Given the description of an element on the screen output the (x, y) to click on. 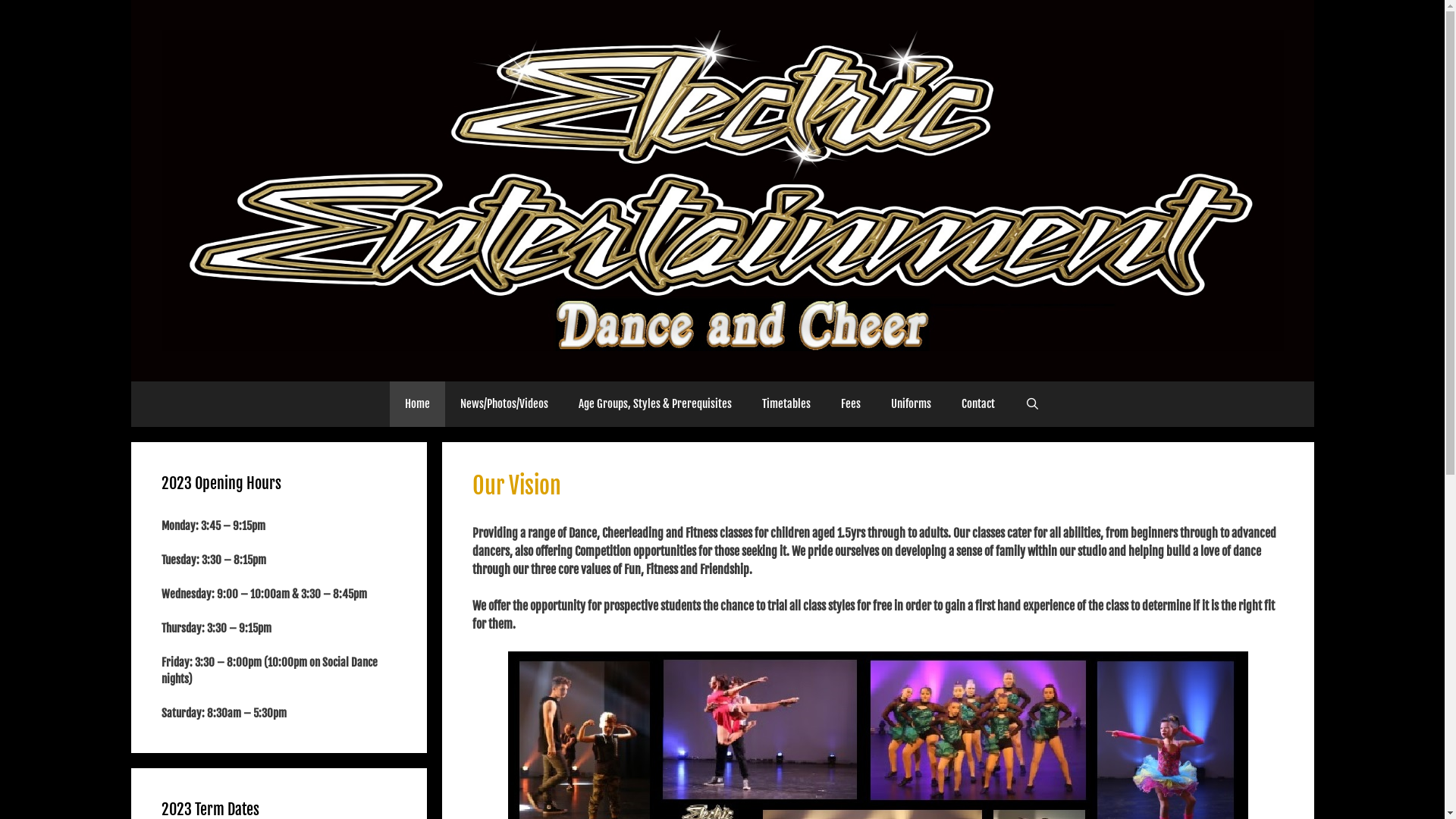
Fees Element type: text (850, 403)
Timetables Element type: text (785, 403)
Uniforms Element type: text (910, 403)
Our Vision Element type: text (515, 485)
Age Groups, Styles & Prerequisites Element type: text (654, 403)
Contact Element type: text (978, 403)
News/Photos/Videos Element type: text (504, 403)
Home Element type: text (417, 403)
